Given the description of an element on the screen output the (x, y) to click on. 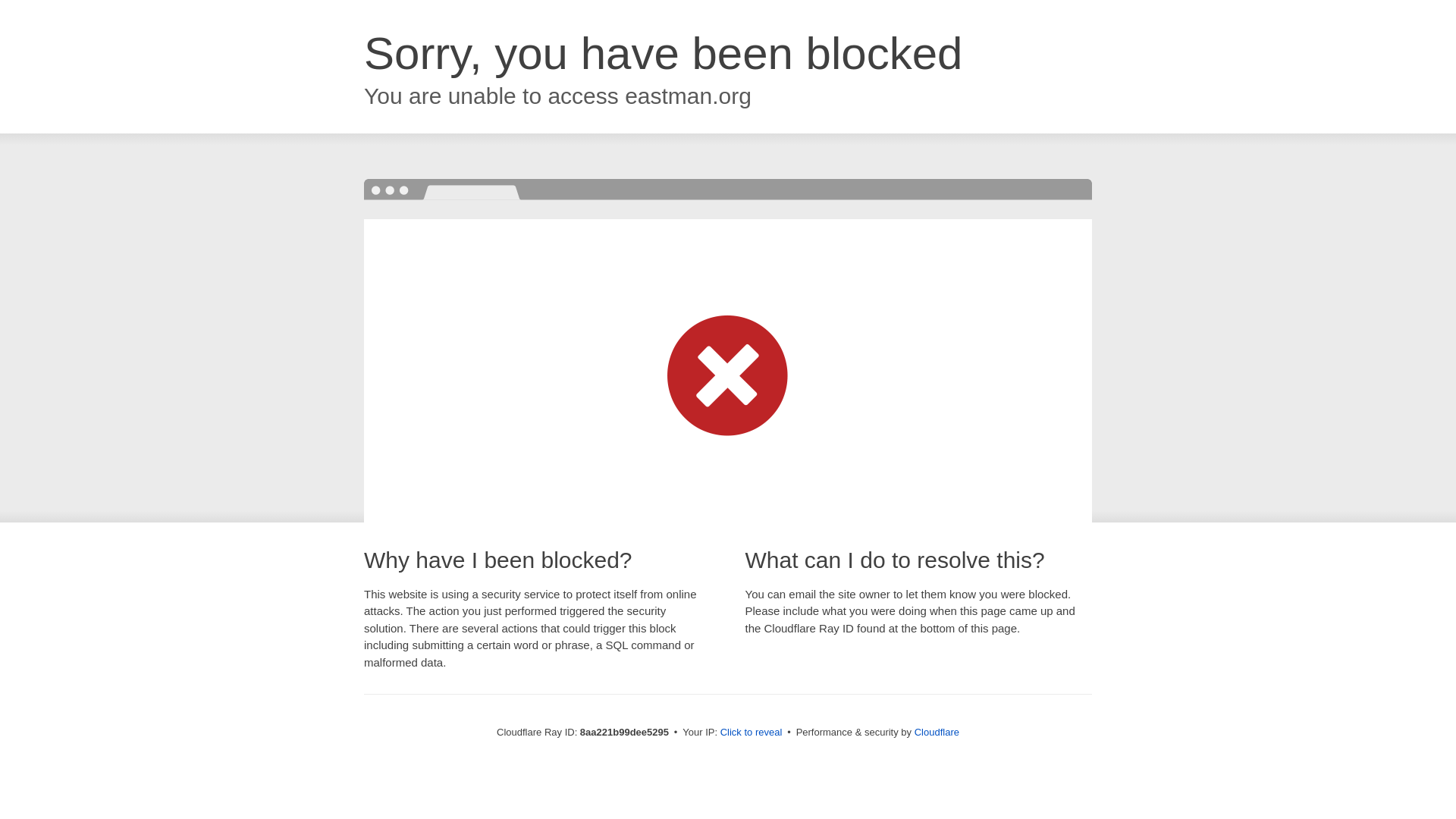
Cloudflare (936, 731)
Click to reveal (751, 732)
